Given the description of an element on the screen output the (x, y) to click on. 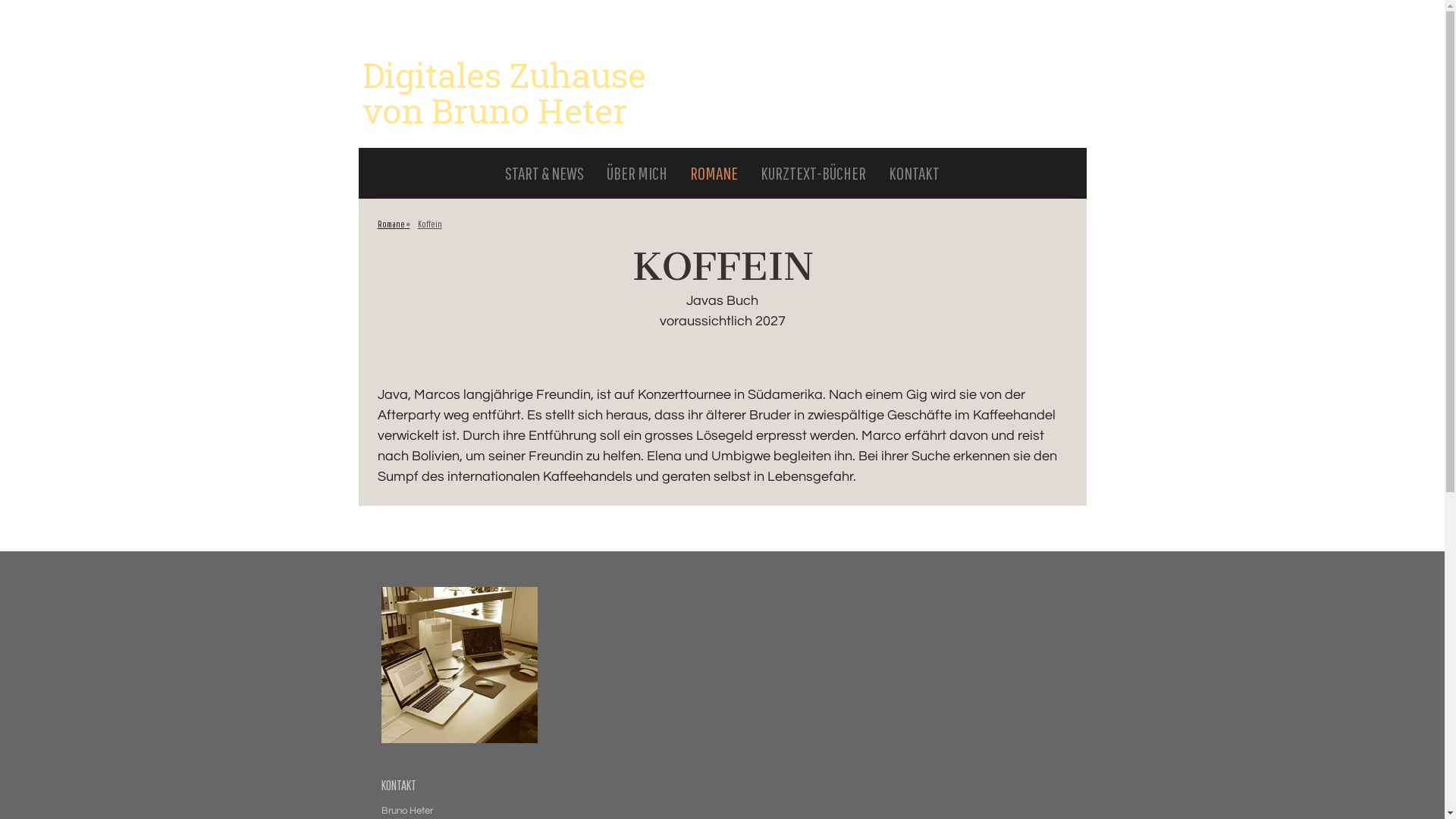
Koffein Element type: text (429, 223)
ROMANE Element type: text (713, 172)
START & NEWS Element type: text (544, 172)
Romane Element type: text (393, 223)
Digitales Zuhause
von Bruno Heter Element type: text (504, 101)
KONTAKT Element type: text (913, 172)
